Given the description of an element on the screen output the (x, y) to click on. 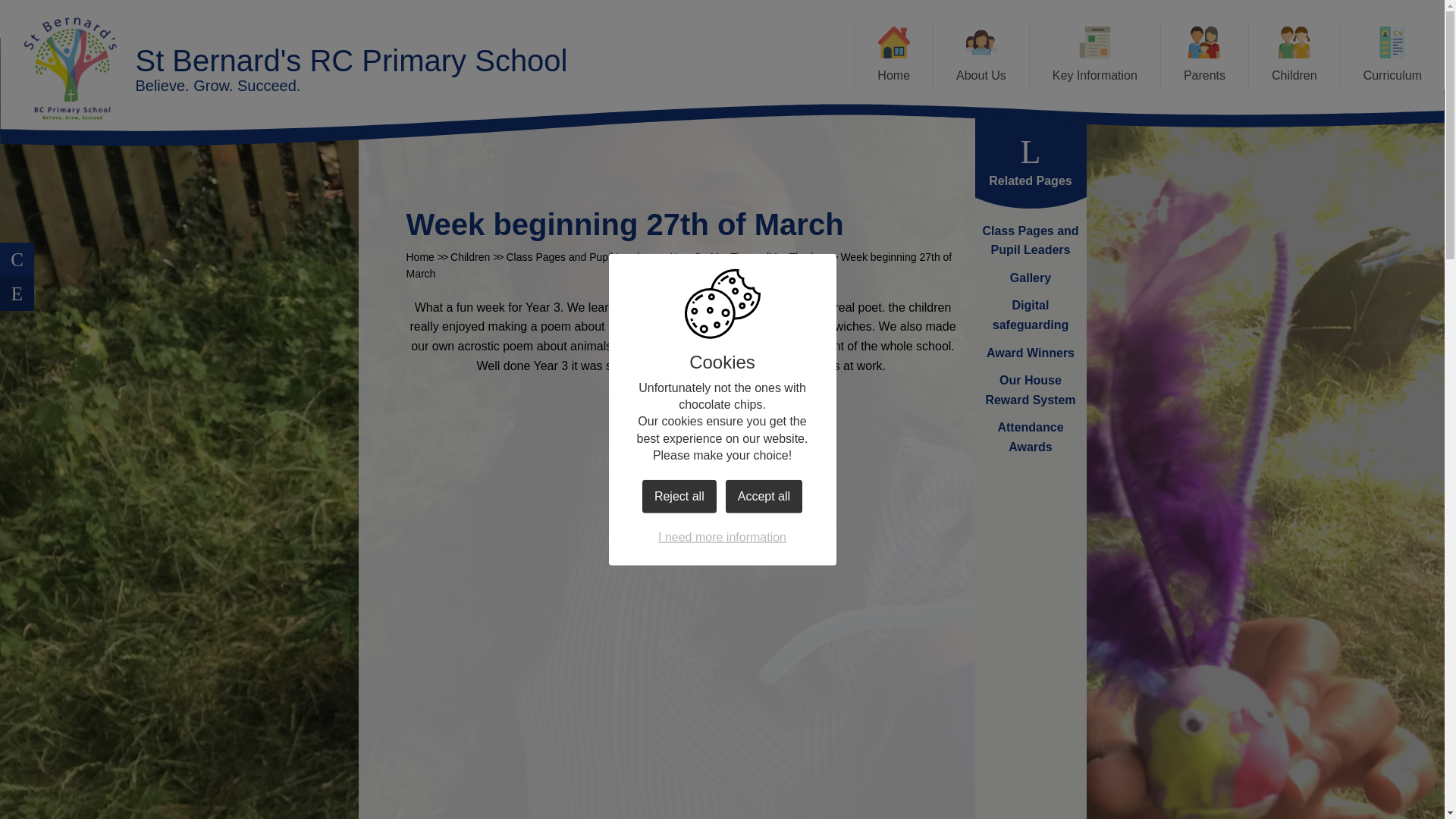
About Us (981, 55)
Home Page (70, 68)
Key Information (1094, 55)
Home (893, 55)
